Given the description of an element on the screen output the (x, y) to click on. 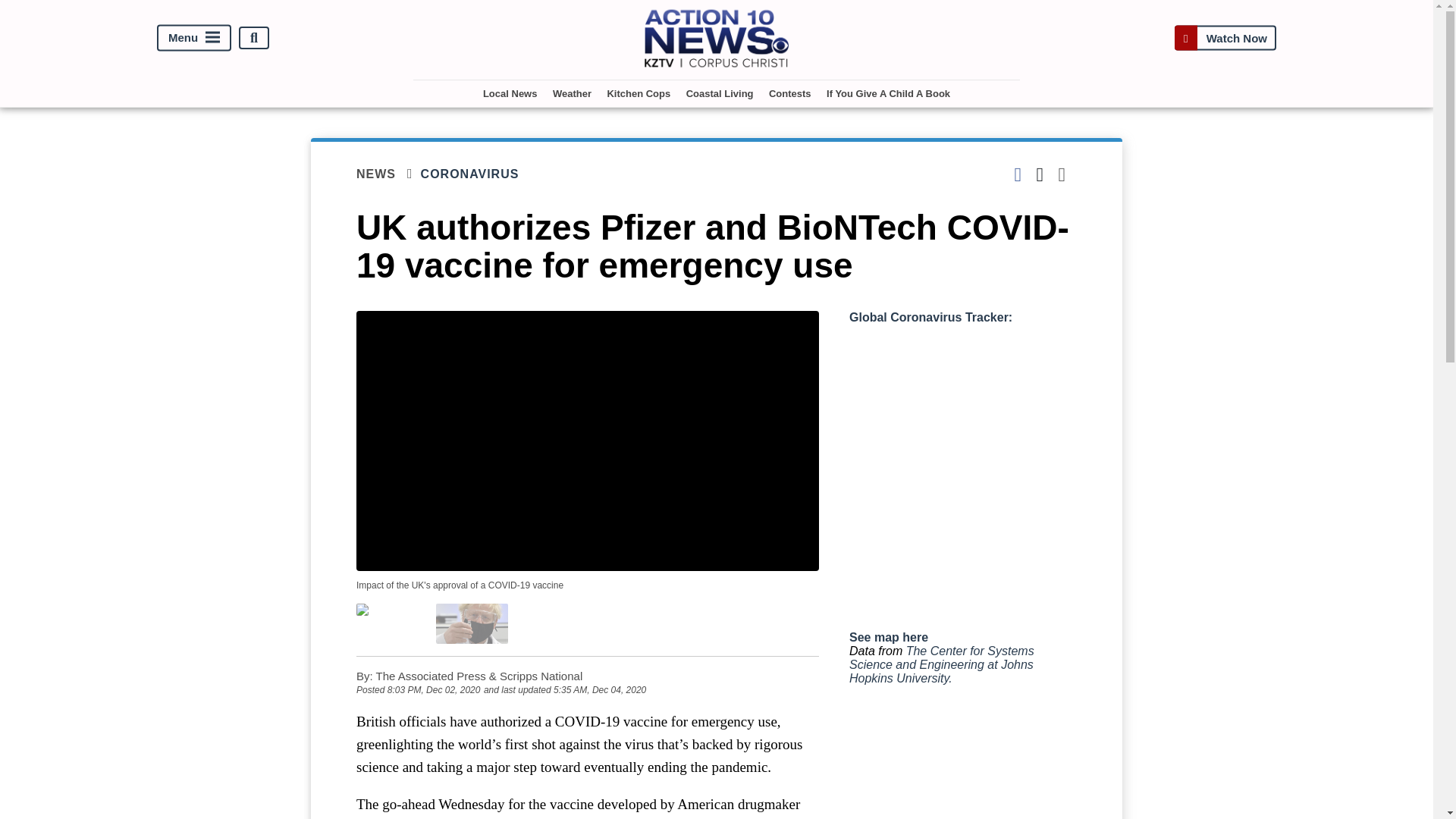
Menu (194, 38)
Watch Now (1224, 38)
